Given the description of an element on the screen output the (x, y) to click on. 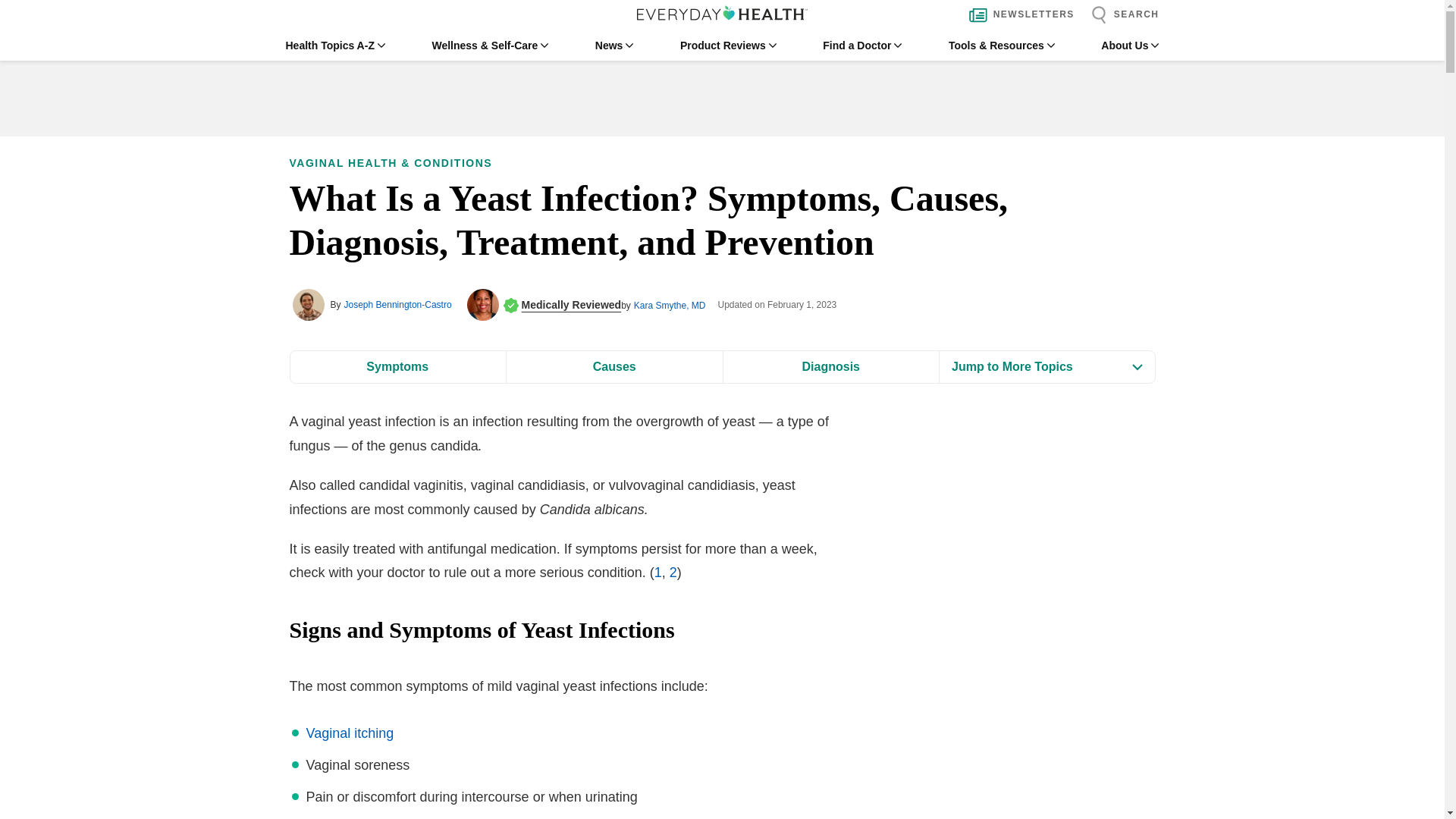
Health Topics A-Z (334, 45)
SEARCH (1120, 15)
About Us (1129, 45)
NEWSLETTERS (1018, 15)
Product Reviews (727, 45)
News (614, 45)
Find a Doctor (861, 45)
